Given the description of an element on the screen output the (x, y) to click on. 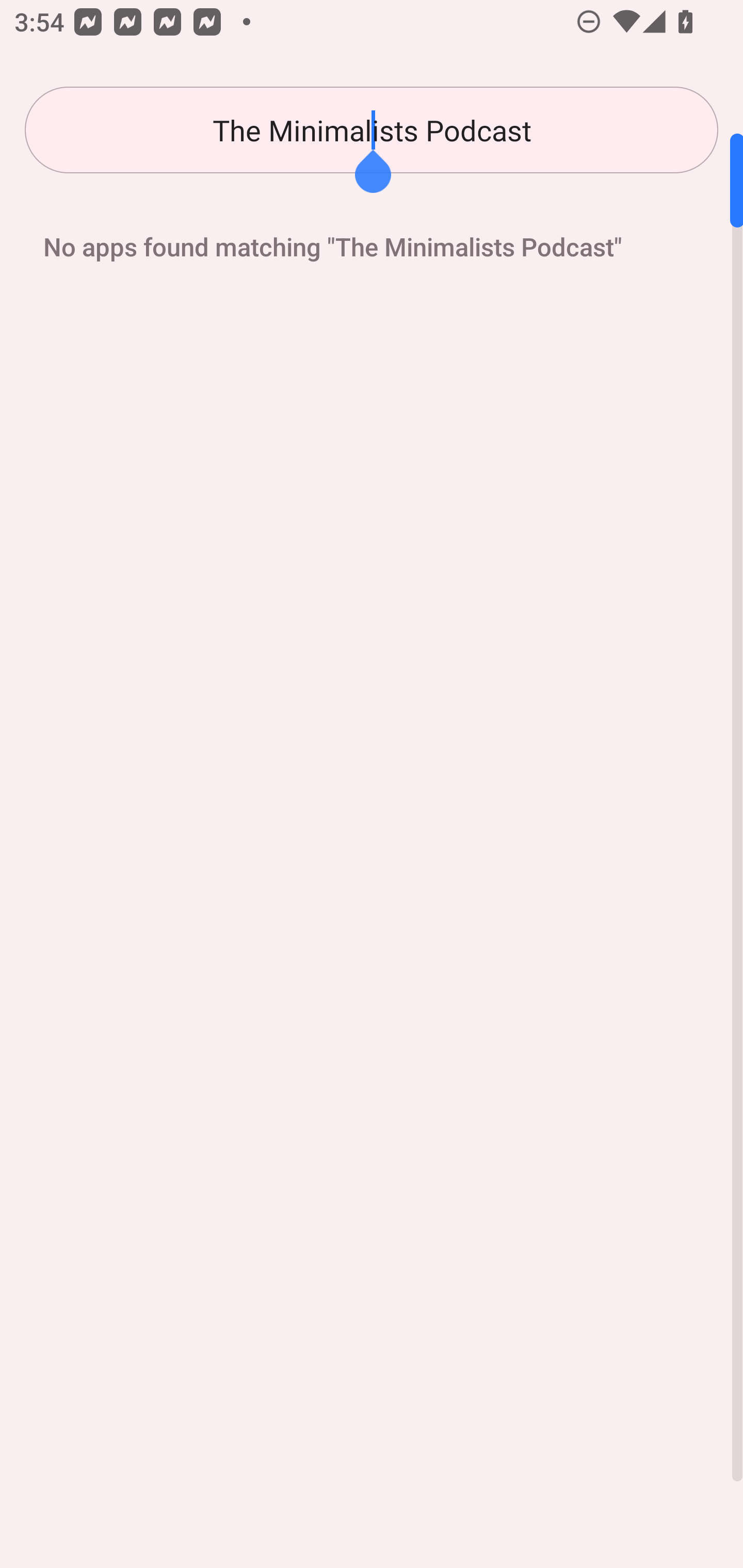
The Minimalists Podcast (371, 130)
